Given the description of an element on the screen output the (x, y) to click on. 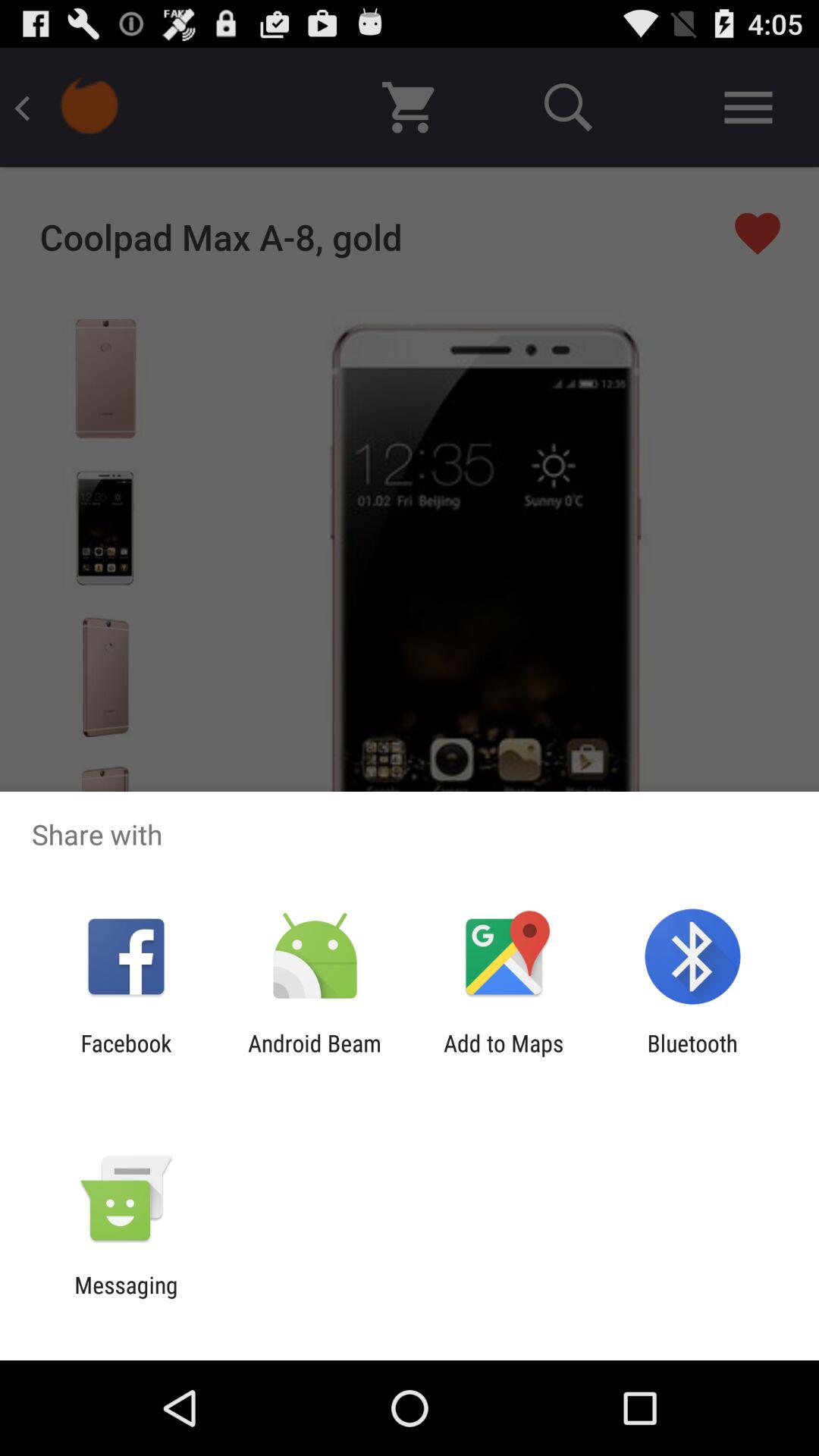
flip until add to maps item (503, 1056)
